Given the description of an element on the screen output the (x, y) to click on. 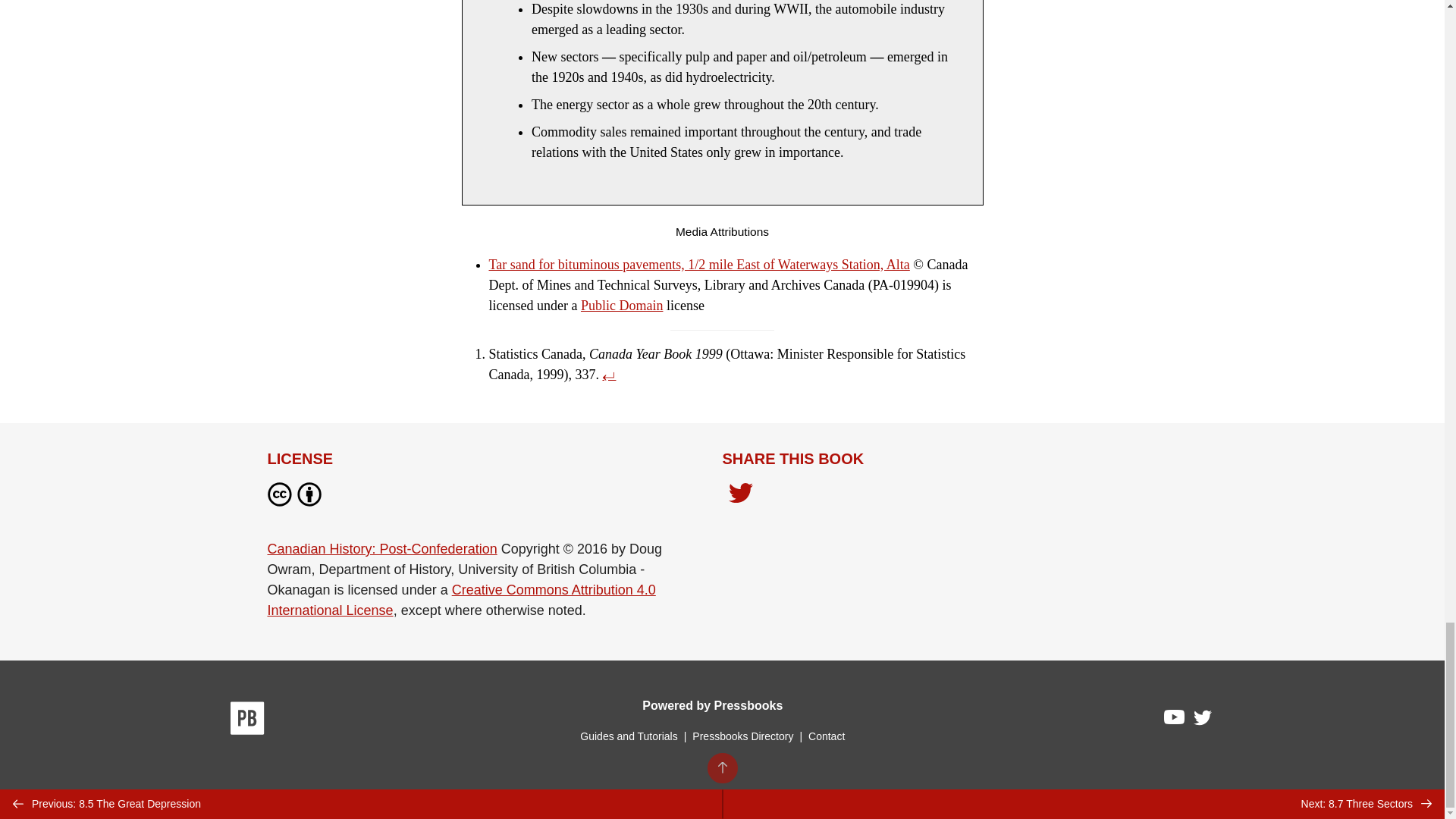
Share on Twitter (740, 494)
Public Domain (621, 305)
Powered by Pressbooks (712, 705)
Share on Twitter (740, 496)
Creative Commons Attribution 4.0 International License (460, 600)
Contact (826, 736)
Guides and Tutorials (627, 736)
Pressbooks on YouTube (1174, 721)
Pressbooks Directory (742, 736)
Canadian History: Post-Confederation (381, 548)
